Given the description of an element on the screen output the (x, y) to click on. 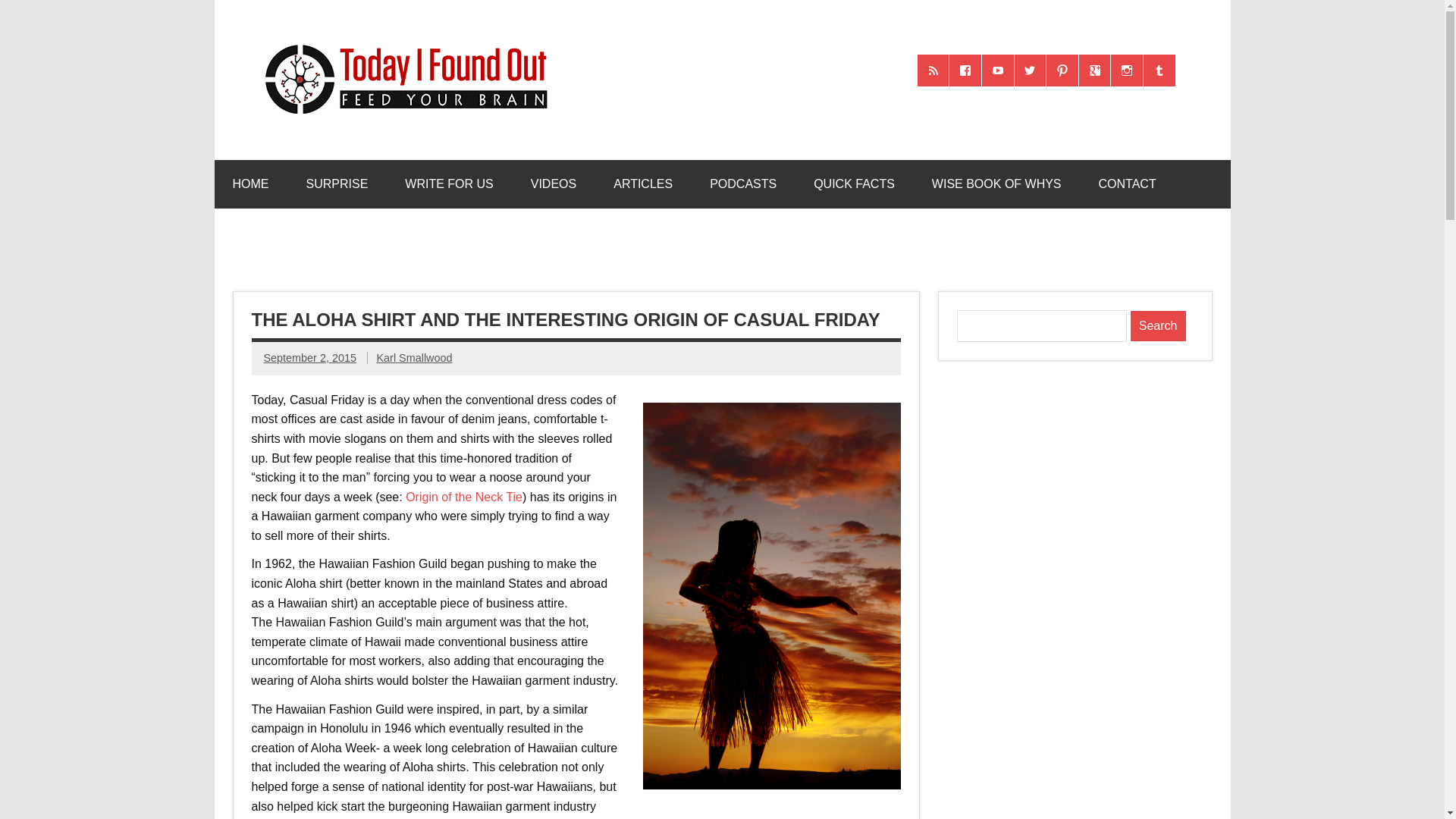
VIDEOS (553, 183)
Interesting Facts (853, 183)
HOME (250, 183)
WISE BOOK OF WHYS (997, 183)
Search (1158, 326)
CONTACT (1127, 183)
ARTICLES (642, 183)
WRITE FOR US (449, 183)
View all posts by Karl Smallwood (413, 357)
12:05 am (309, 357)
